Given the description of an element on the screen output the (x, y) to click on. 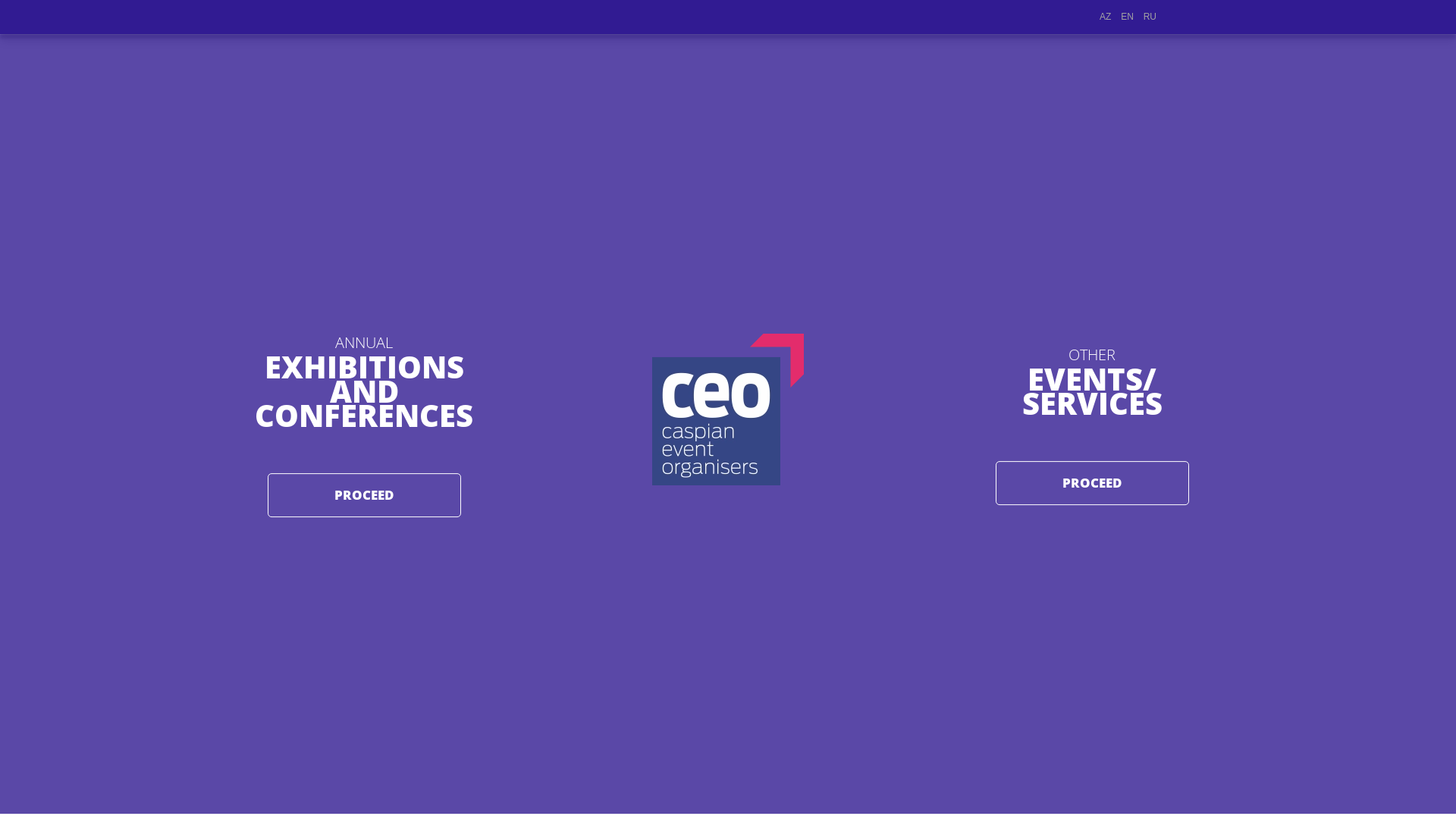
RU Element type: text (1149, 16)
PROCEED Element type: text (363, 495)
ANNUAL
EXHIBITIONS
AND
CONFERENCES
PROCEED Element type: text (364, 423)
PROCEED Element type: text (1091, 483)
EN Element type: text (1126, 16)
AZ Element type: text (1104, 16)
